Given the description of an element on the screen output the (x, y) to click on. 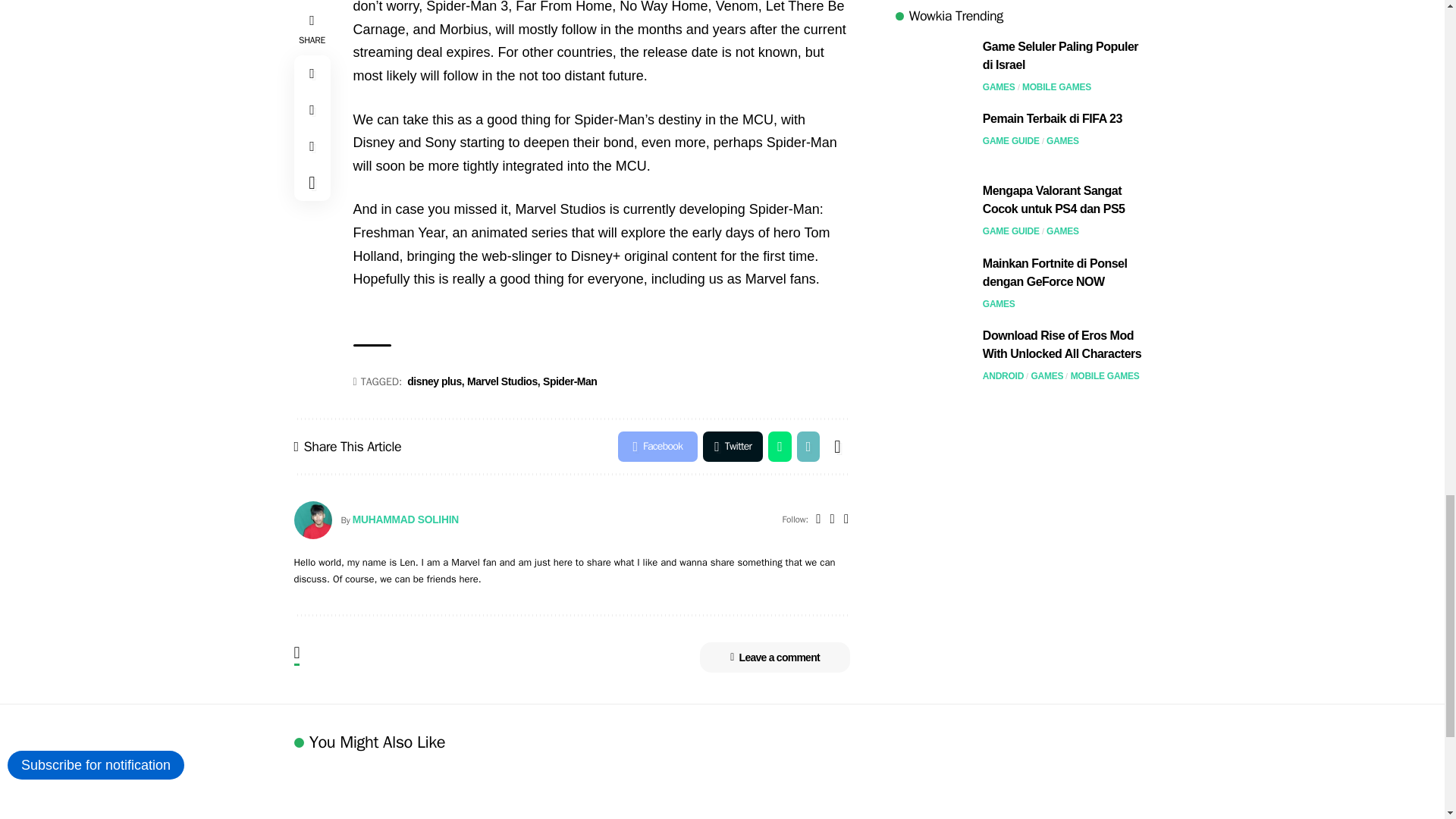
Ezra Miller Recovery Update, Return to The Flash? (613, 792)
disney plus (435, 382)
Marvel Studios (503, 382)
Who is Emilia Clarke Playing in Secret Invasion? (395, 792)
Aquaman 2 Spoiler by New Concept Art, The Big War? (831, 792)
